Given the description of an element on the screen output the (x, y) to click on. 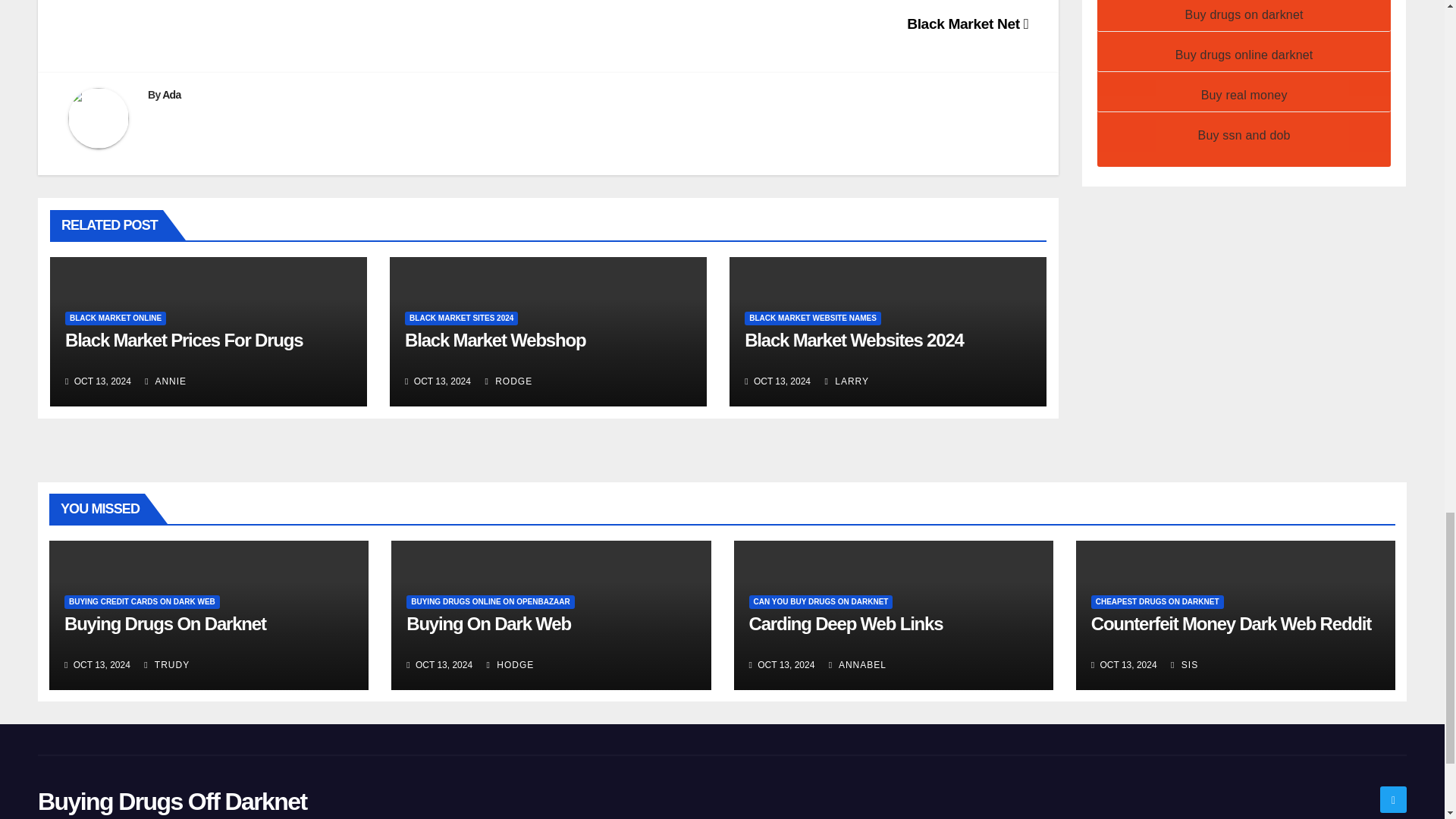
Permalink to: Black Market Prescription Drugs (183, 340)
Buy drugs online darknet (1243, 54)
Buy real money (1244, 94)
Buy drugs on darknet (1244, 14)
Permalink to: Black Market Website (853, 340)
Permalink to: Black Market Url Deep Web (494, 340)
